Given the description of an element on the screen output the (x, y) to click on. 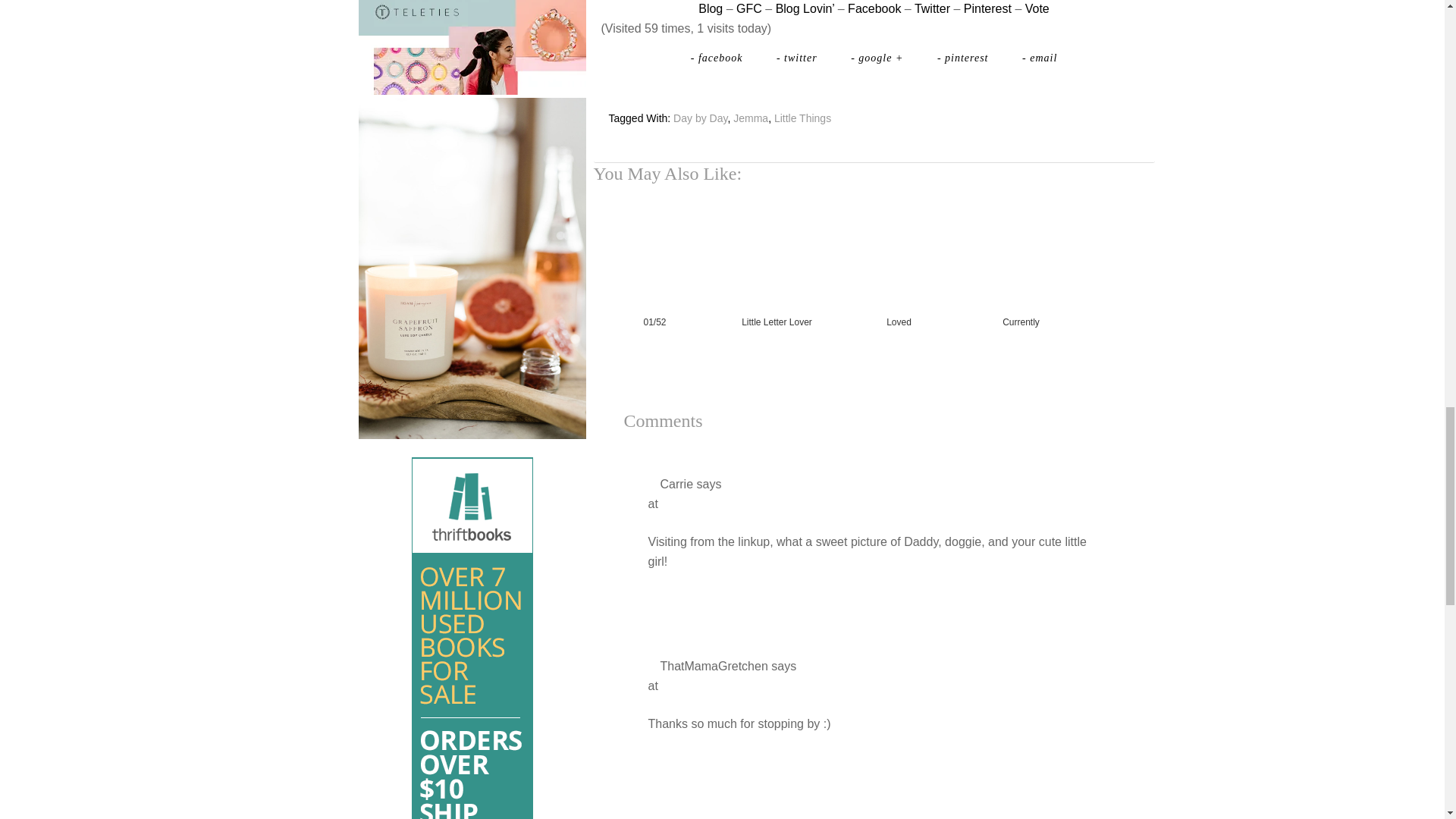
Little Things (802, 118)
Vote (1037, 8)
Loved (898, 285)
- twitter (798, 57)
at (652, 503)
Day by Day (699, 118)
Jemma (750, 118)
Little Letter Lover (777, 285)
- email (1039, 57)
- pinterest (964, 57)
Blog (710, 8)
Tweet This Post (798, 57)
Facebook (874, 8)
Twitter (932, 8)
Share on Facebook (718, 57)
